Given the description of an element on the screen output the (x, y) to click on. 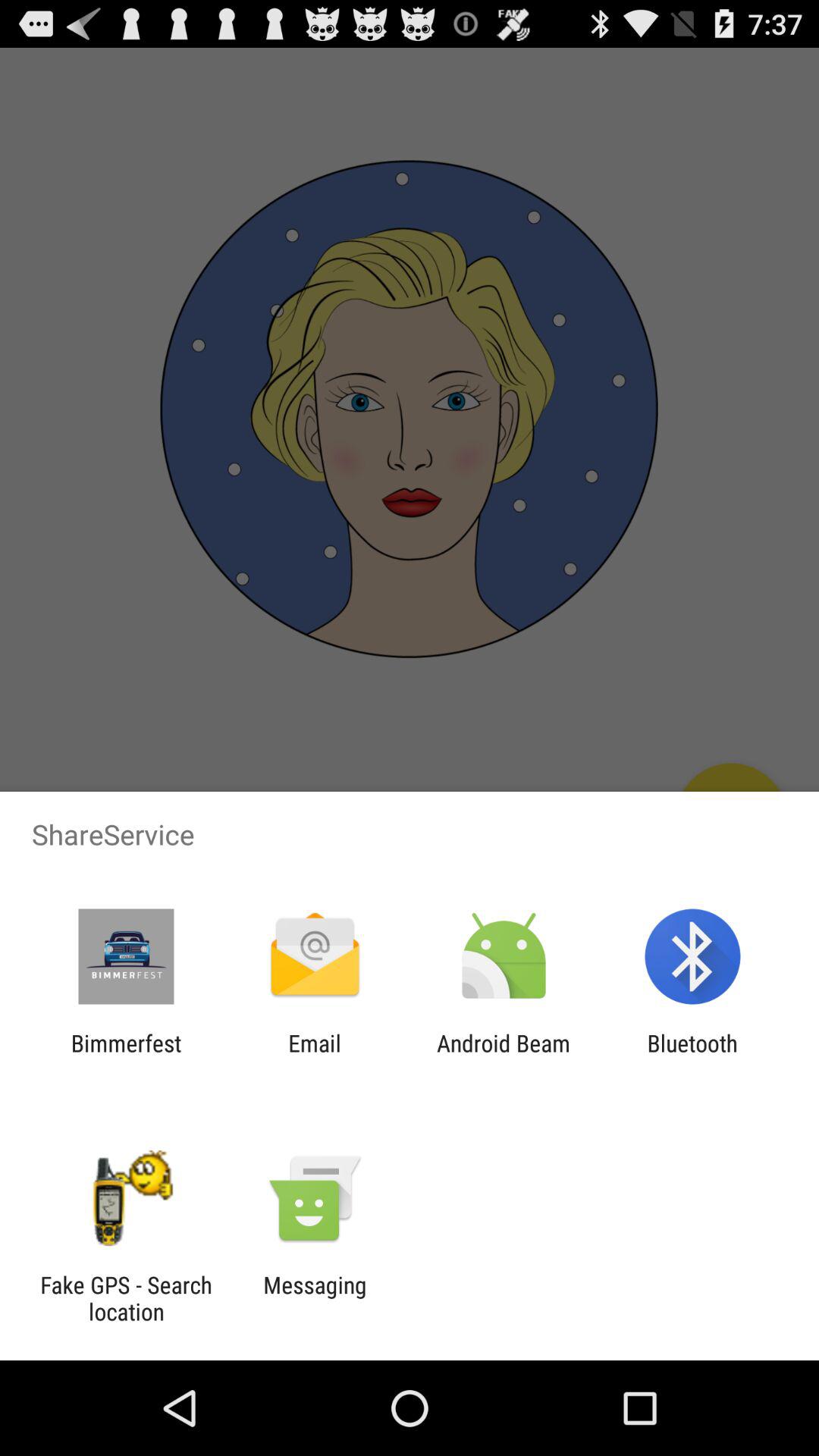
jump to email item (314, 1056)
